Given the description of an element on the screen output the (x, y) to click on. 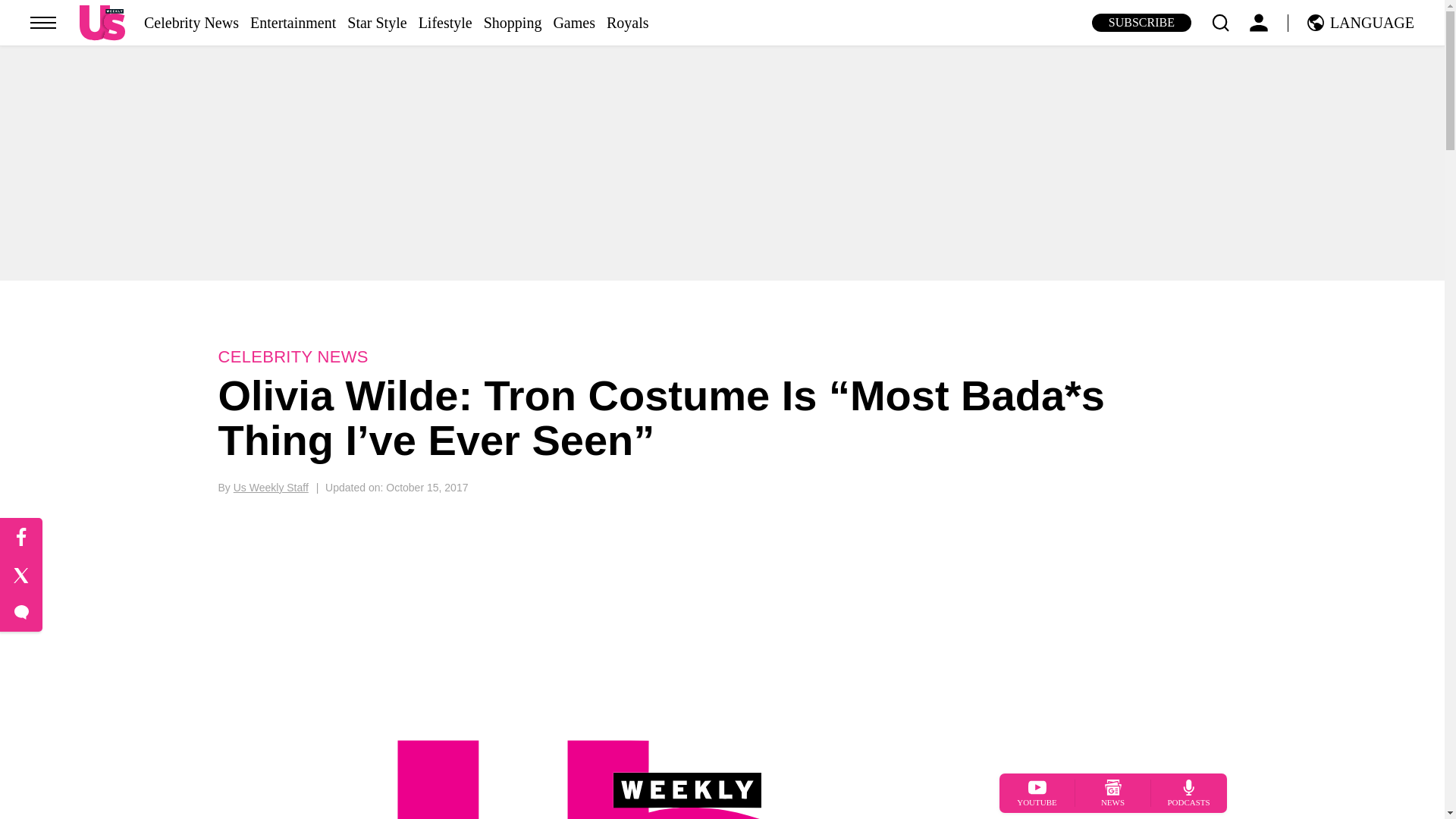
Posts by Us Weekly Staff (270, 487)
Click to share on Twitter (21, 575)
Click to share on Facebook (21, 537)
